Given the description of an element on the screen output the (x, y) to click on. 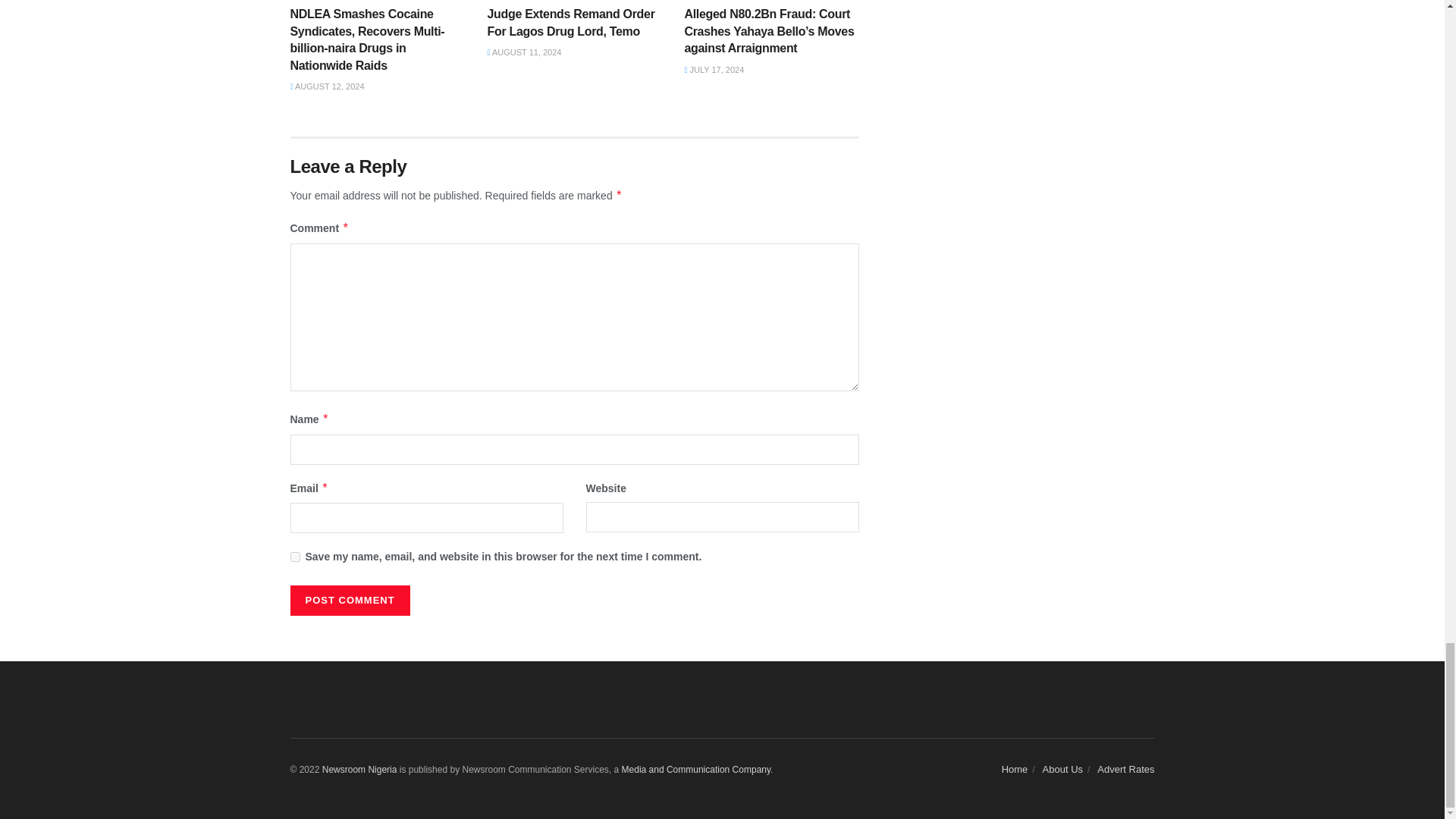
yes (294, 556)
Newsroom Nigeria (696, 769)
Latest news from Newsroom (359, 769)
Post Comment (349, 600)
